Given the description of an element on the screen output the (x, y) to click on. 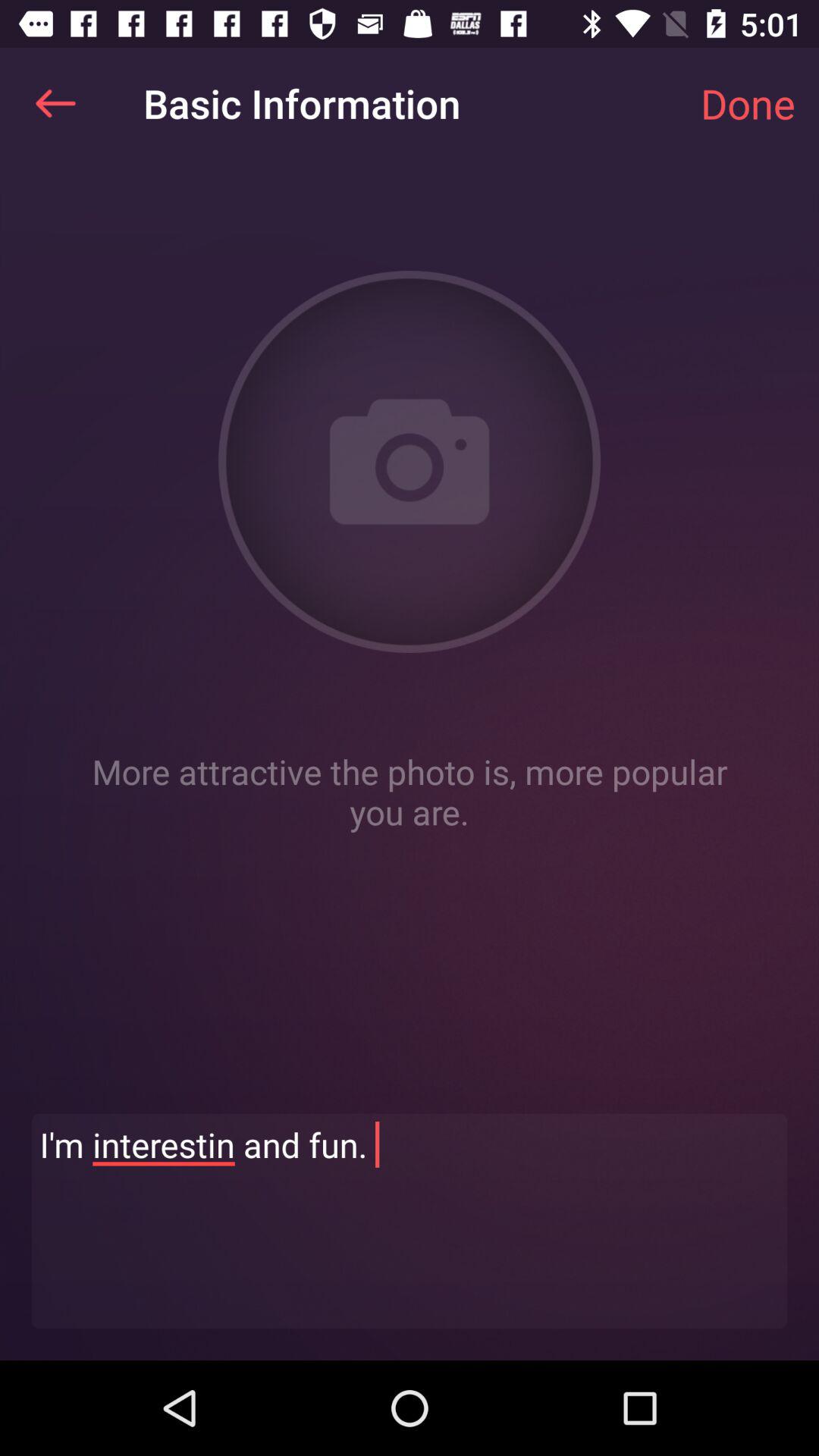
click icon to the right of basic information app (747, 103)
